Given the description of an element on the screen output the (x, y) to click on. 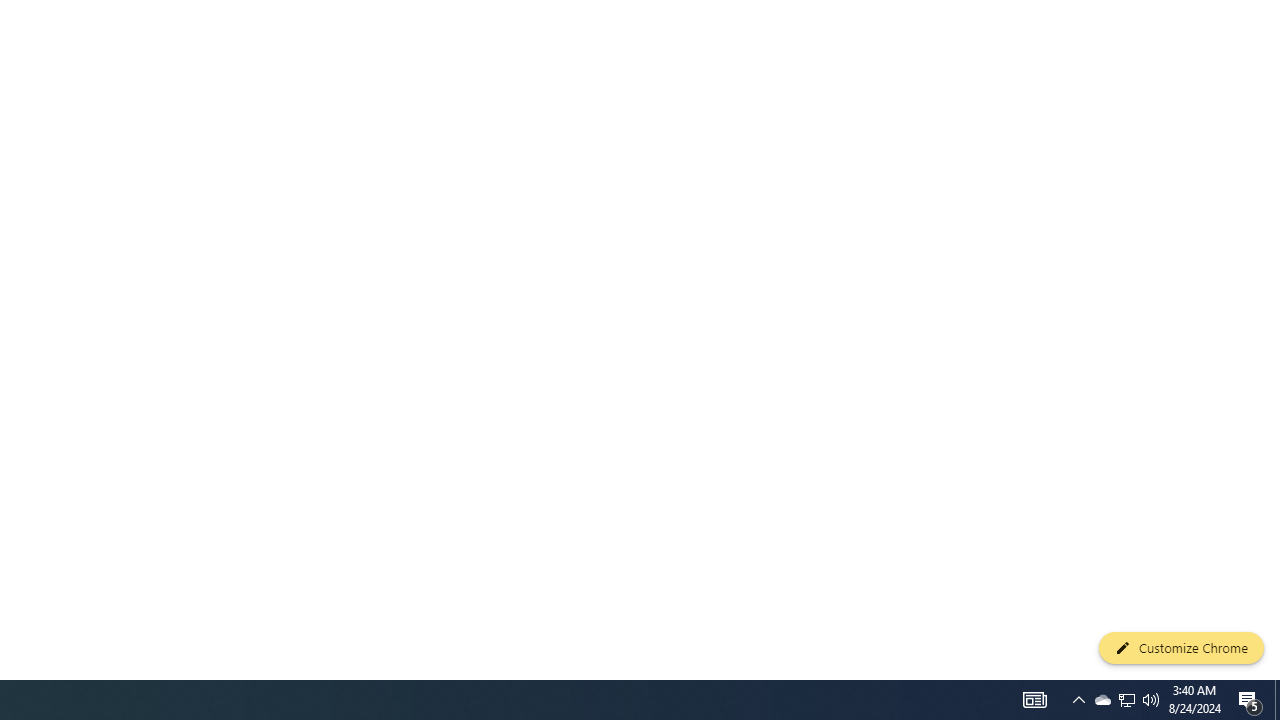
Customize Chrome (1181, 647)
